Given the description of an element on the screen output the (x, y) to click on. 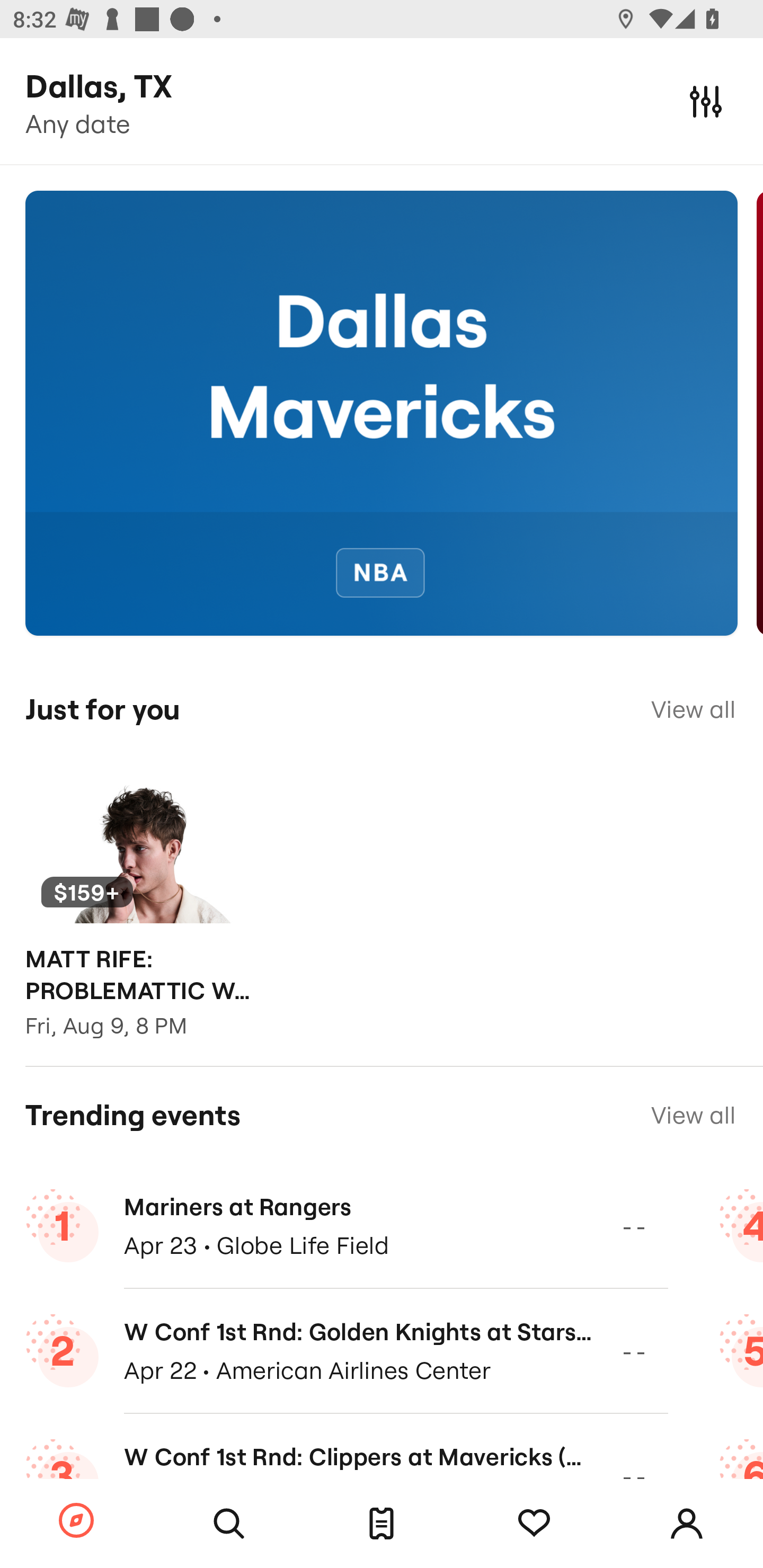
Filters (705, 100)
View all (693, 709)
View all (693, 1114)
Browse (76, 1521)
Search (228, 1523)
Tickets (381, 1523)
Tracking (533, 1523)
Account (686, 1523)
